Given the description of an element on the screen output the (x, y) to click on. 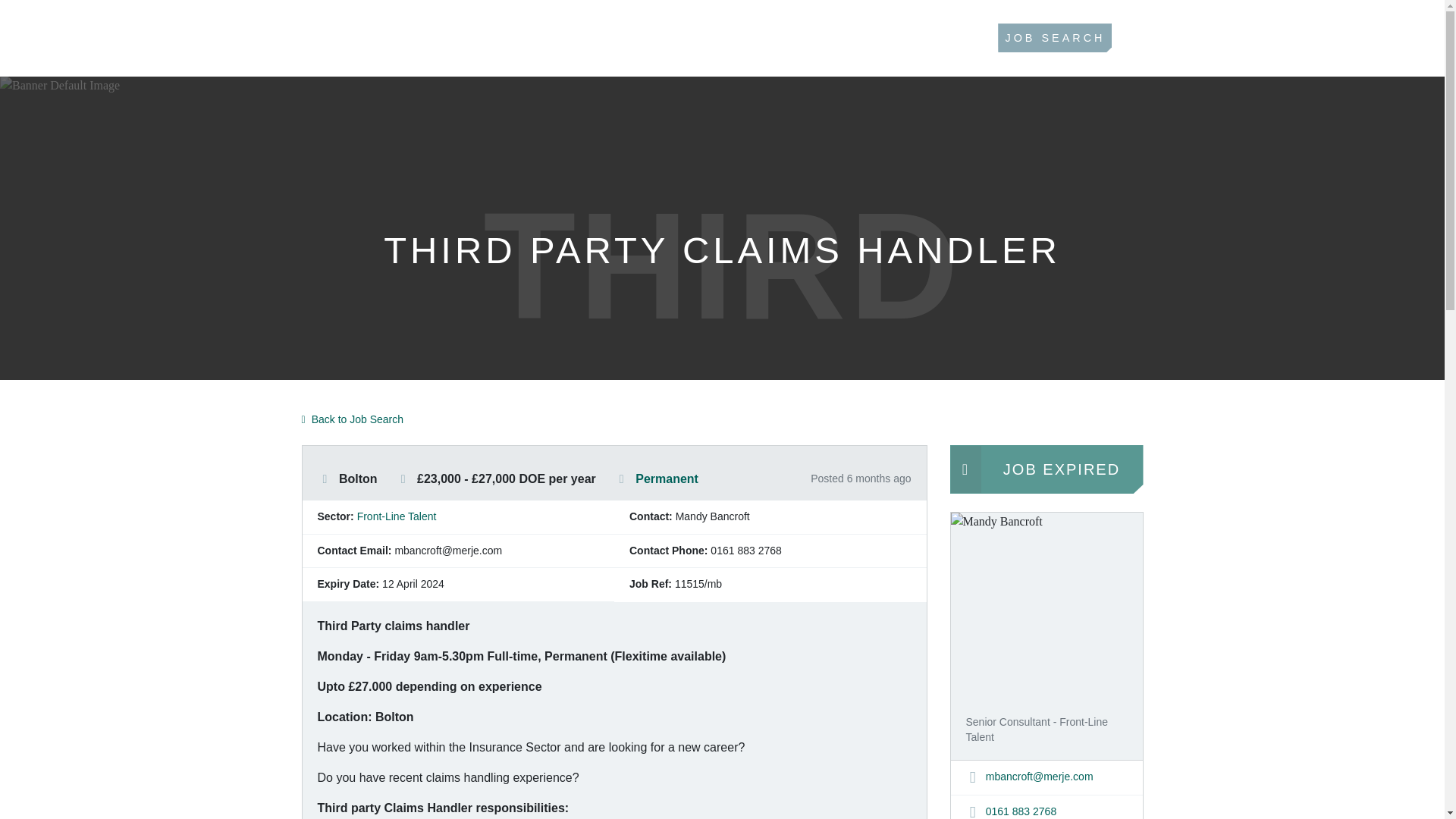
JOB EXPIRED (1045, 469)
MENU (1321, 38)
Job Type (621, 479)
HIRING? (789, 37)
0161 883 2768 (1011, 811)
JOB SEARCH (1054, 37)
Front-Line Talent (396, 516)
SOLUTIONS (904, 37)
Salary (403, 479)
Back to Job Search (352, 419)
